Given the description of an element on the screen output the (x, y) to click on. 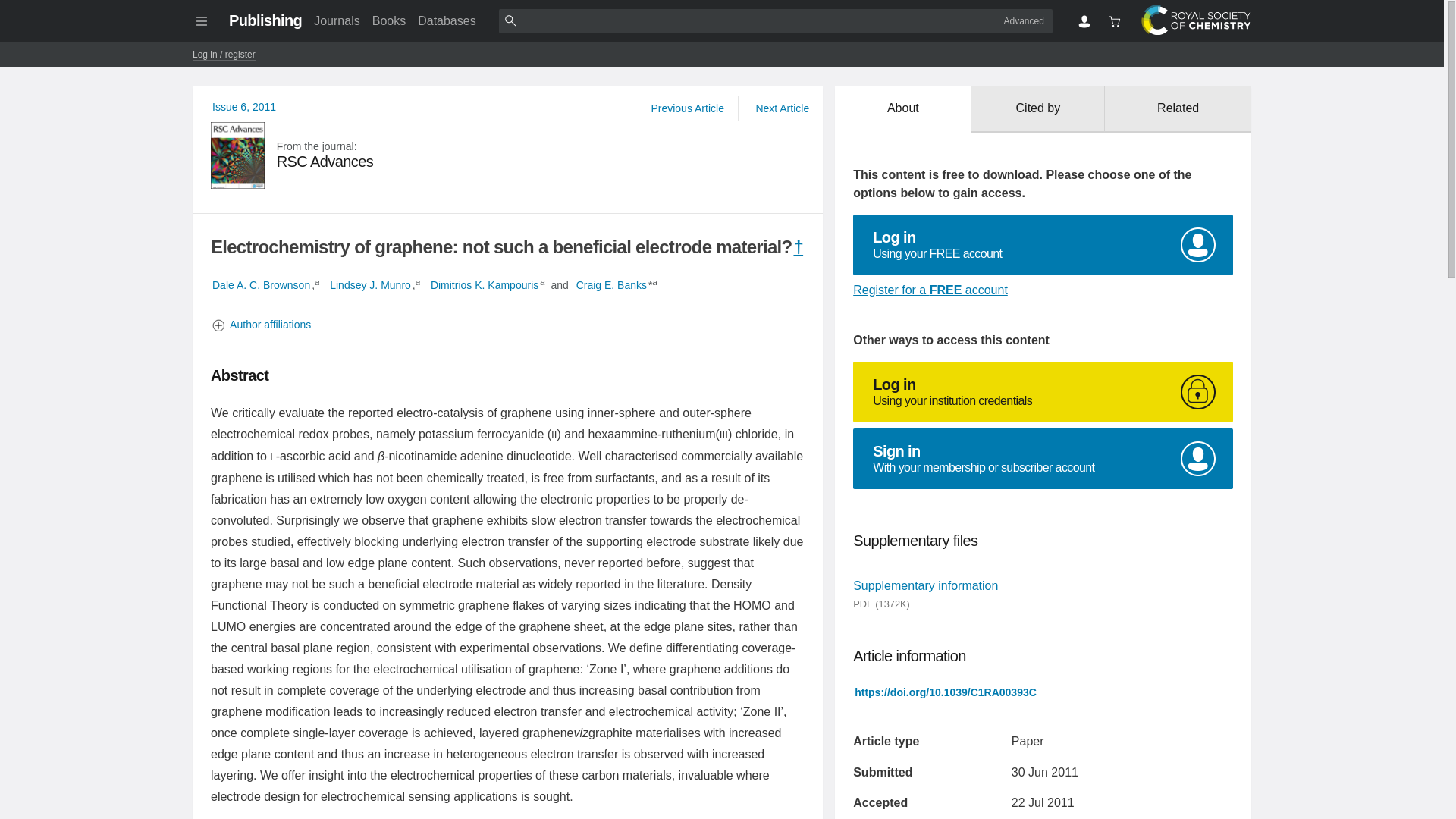
Publishing (264, 20)
Next Article (781, 107)
Related (1177, 108)
Dale A. C. Brownson (261, 284)
Link to landing page via DOI (945, 692)
Author affiliations (1043, 391)
About (508, 155)
